Given the description of an element on the screen output the (x, y) to click on. 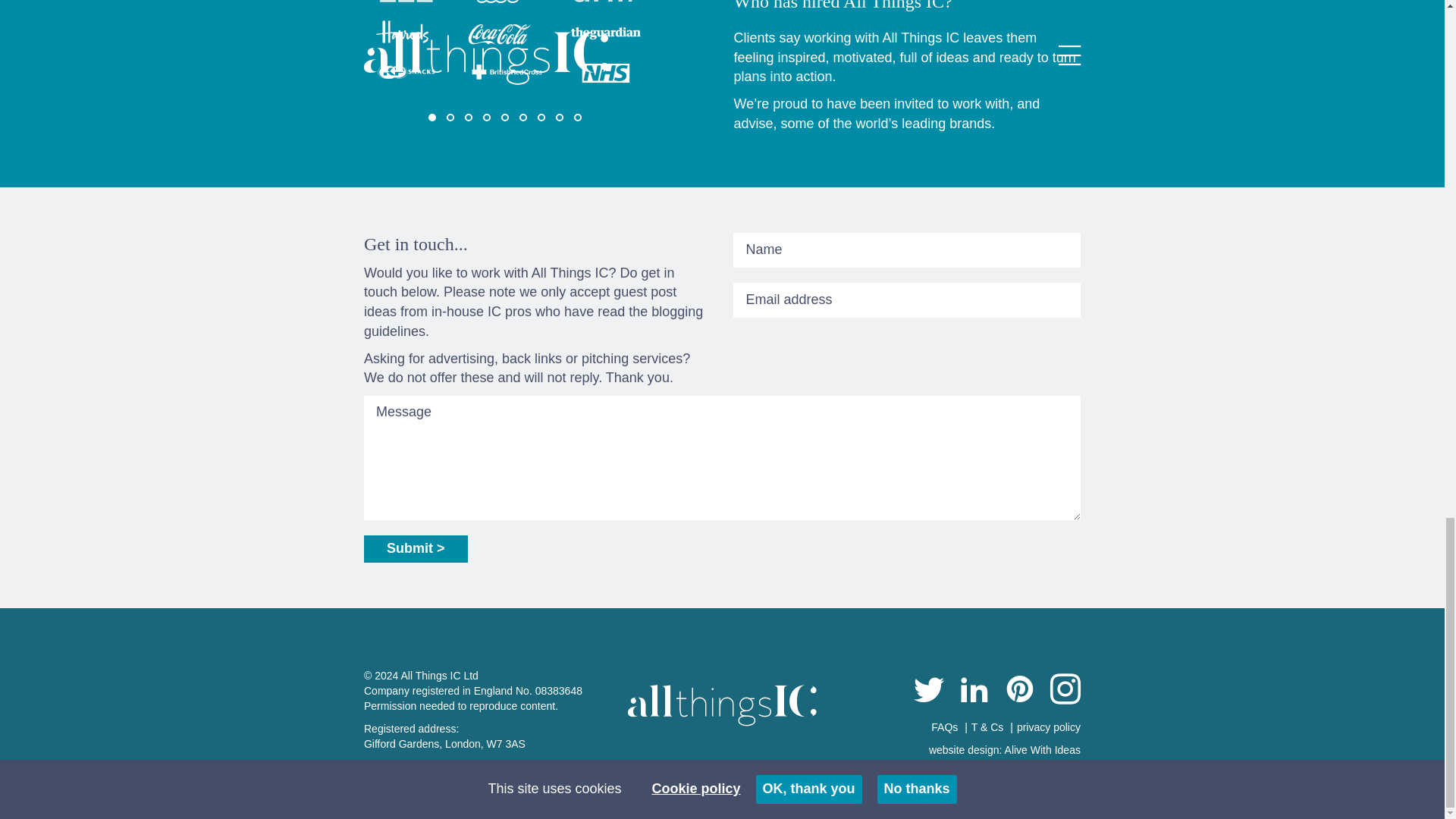
All Things IC on Instagram (1064, 691)
All Things IC on Twitter (928, 691)
All Things IC on Linkedin (974, 691)
All Things IC on Pinterest (1019, 691)
